Given the description of an element on the screen output the (x, y) to click on. 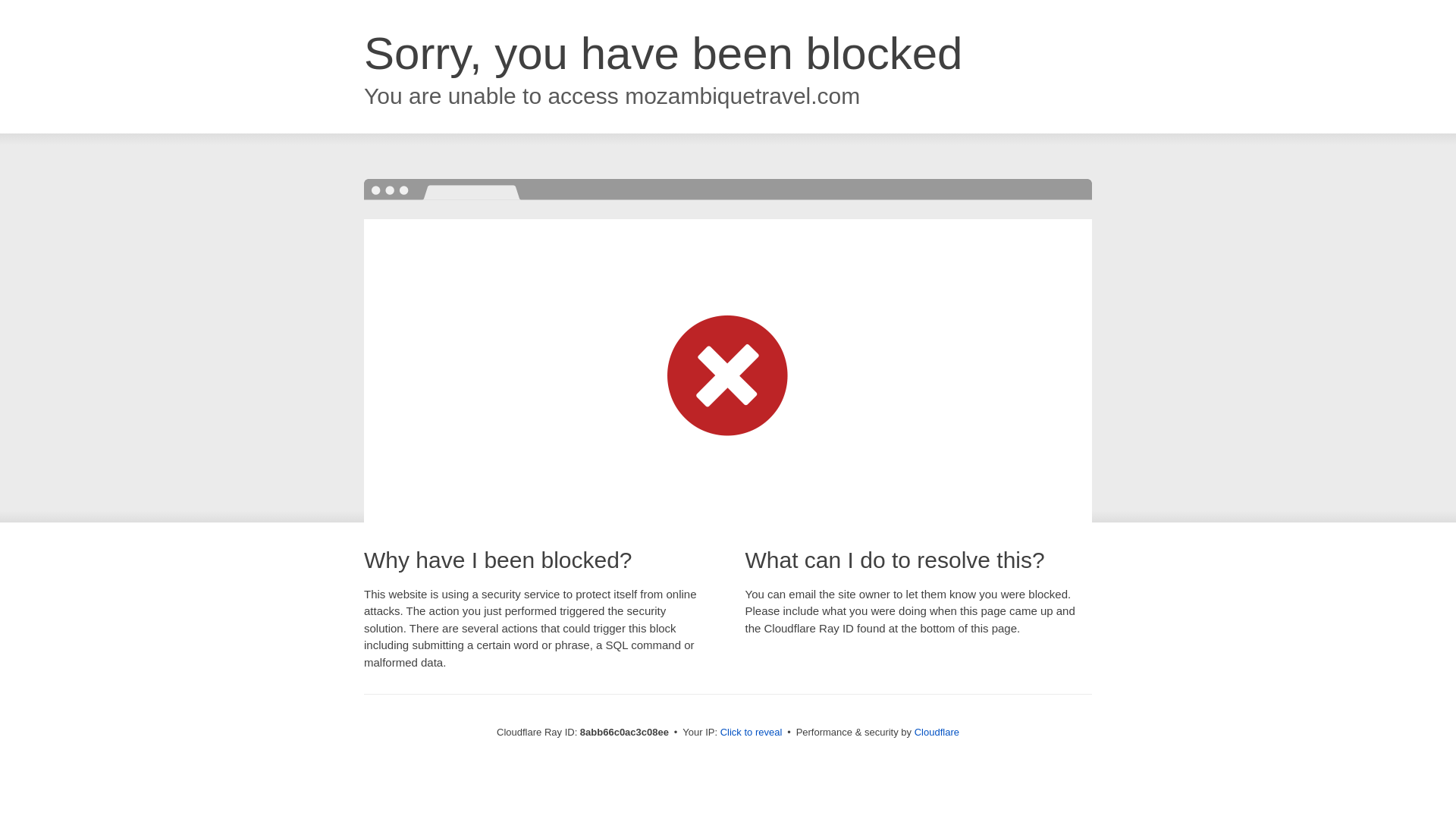
Click to reveal (751, 732)
Cloudflare (936, 731)
